Given the description of an element on the screen output the (x, y) to click on. 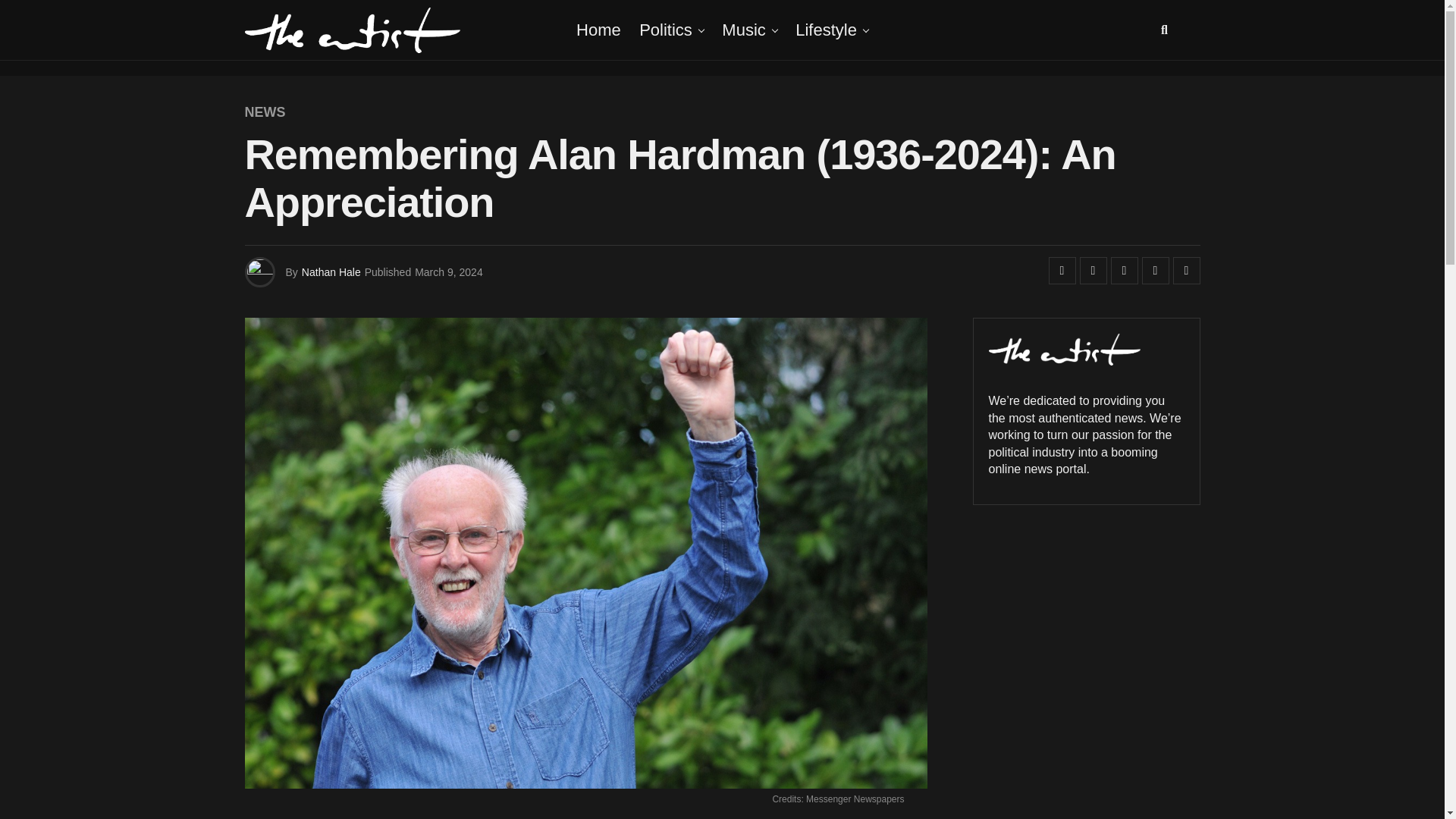
Share on Facebook (1061, 270)
Posts by Nathan Hale (331, 272)
Home (598, 30)
Music (743, 30)
Lifestyle (825, 30)
Tweet This Post (1093, 270)
Politics (665, 30)
